Given the description of an element on the screen output the (x, y) to click on. 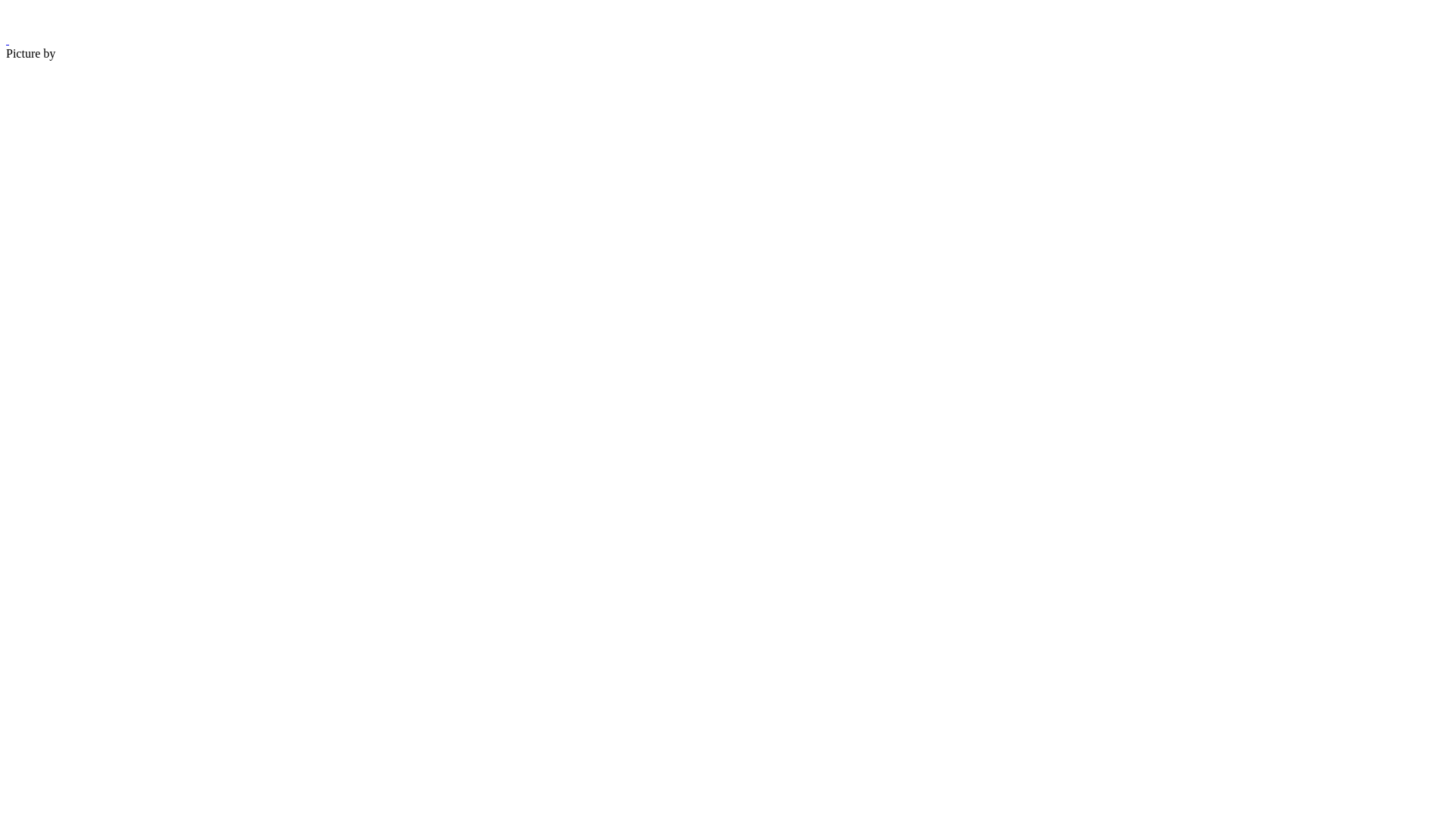
  Element type: text (7, 39)
